Given the description of an element on the screen output the (x, y) to click on. 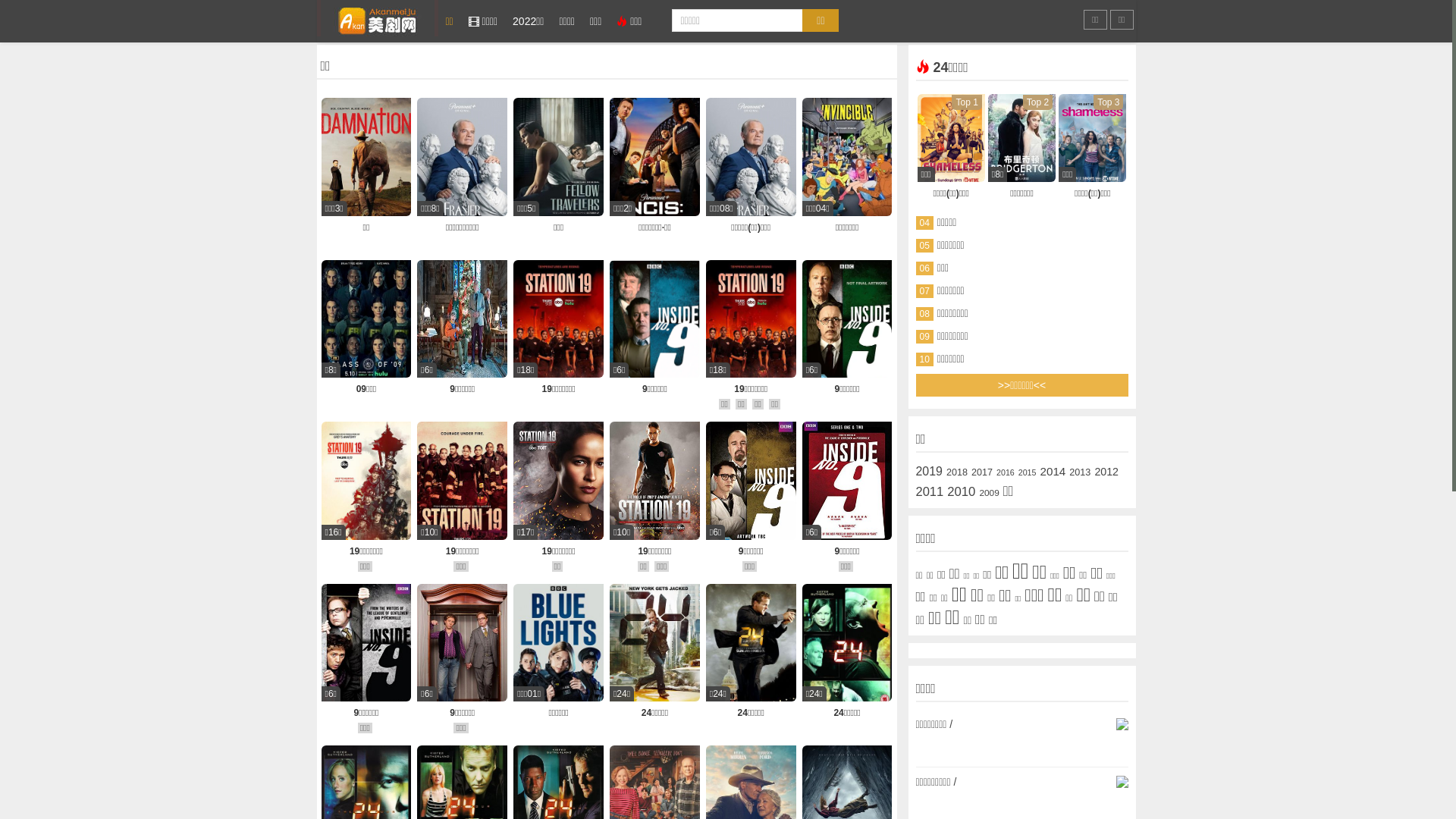
2016 Element type: text (1005, 472)
2009 Element type: text (988, 492)
2014 Element type: text (1052, 471)
2018 Element type: text (956, 472)
2010 Element type: text (961, 491)
2012 Element type: text (1106, 471)
2013 Element type: text (1079, 472)
2019 Element type: text (929, 471)
2017 Element type: text (981, 472)
2011 Element type: text (930, 491)
2015 Element type: text (1027, 472)
